Given the description of an element on the screen output the (x, y) to click on. 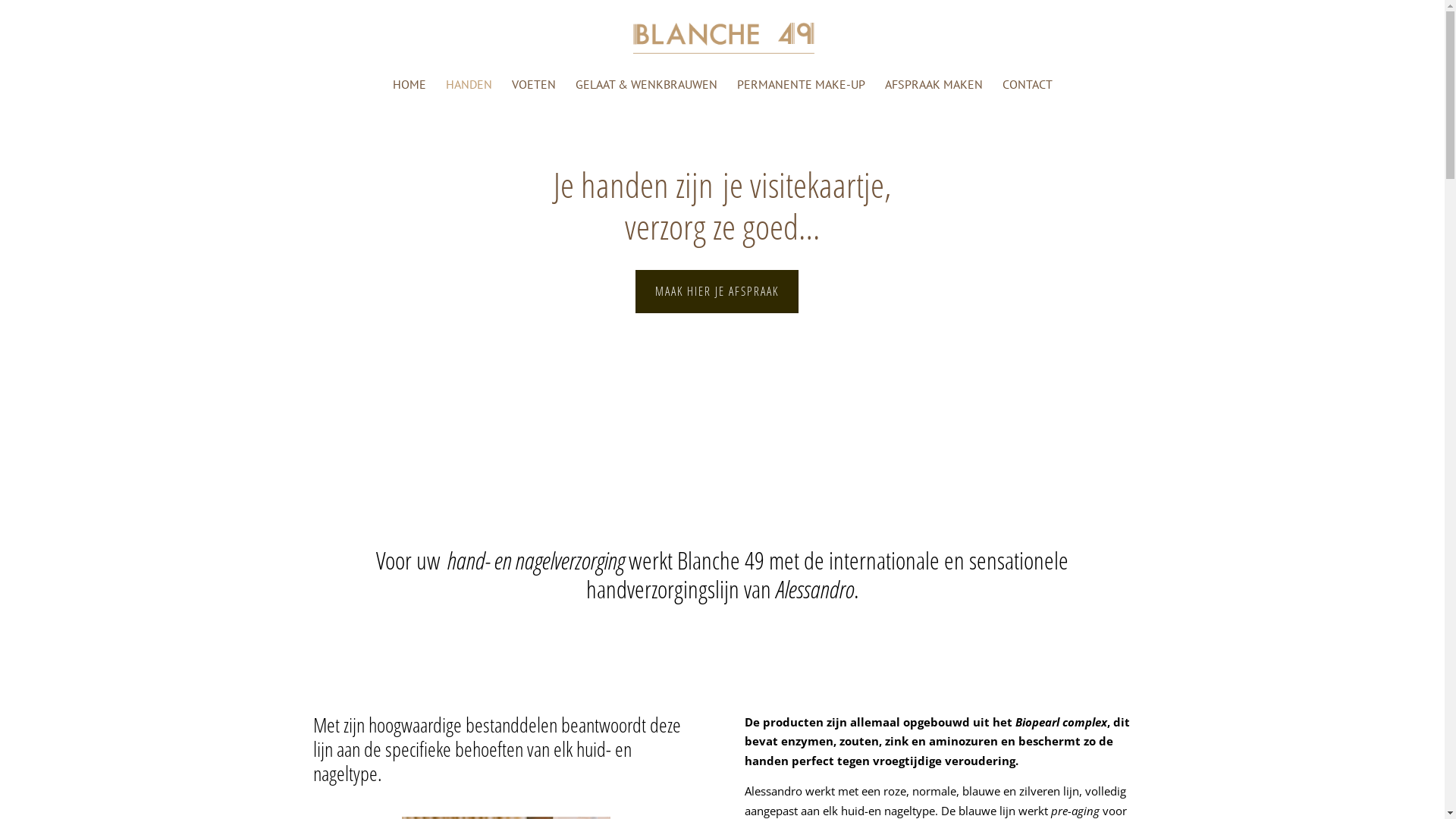
GELAAT & WENKBRAUWEN Element type: text (645, 90)
CONTACT Element type: text (1027, 90)
HOME Element type: text (409, 90)
AFSPRAAK MAKEN Element type: text (933, 90)
MAAK HIER JE AFSPRAAK Element type: text (716, 291)
PERMANENTE MAKE-UP Element type: text (801, 90)
HANDEN Element type: text (468, 90)
VOETEN Element type: text (533, 90)
